Given the description of an element on the screen output the (x, y) to click on. 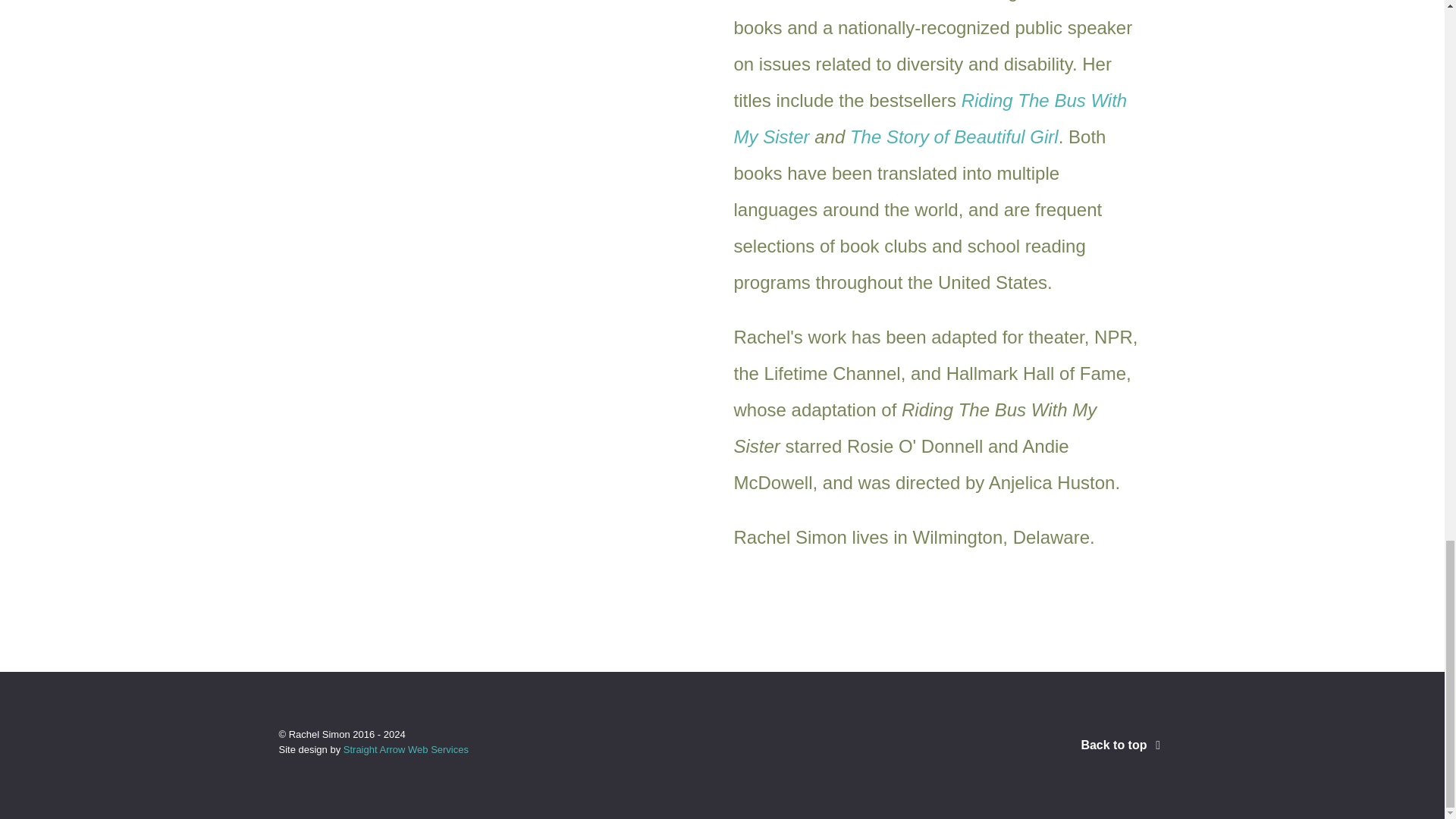
Back to top (1123, 744)
Straight Arrow Web Services (405, 749)
Back to top (1123, 744)
The Story of Beautiful Girl (954, 136)
The Story of Beautiful Girl (954, 136)
Riding The Bus With My Sister (929, 118)
Riding The Bus With My Sister (929, 118)
